Given the description of an element on the screen output the (x, y) to click on. 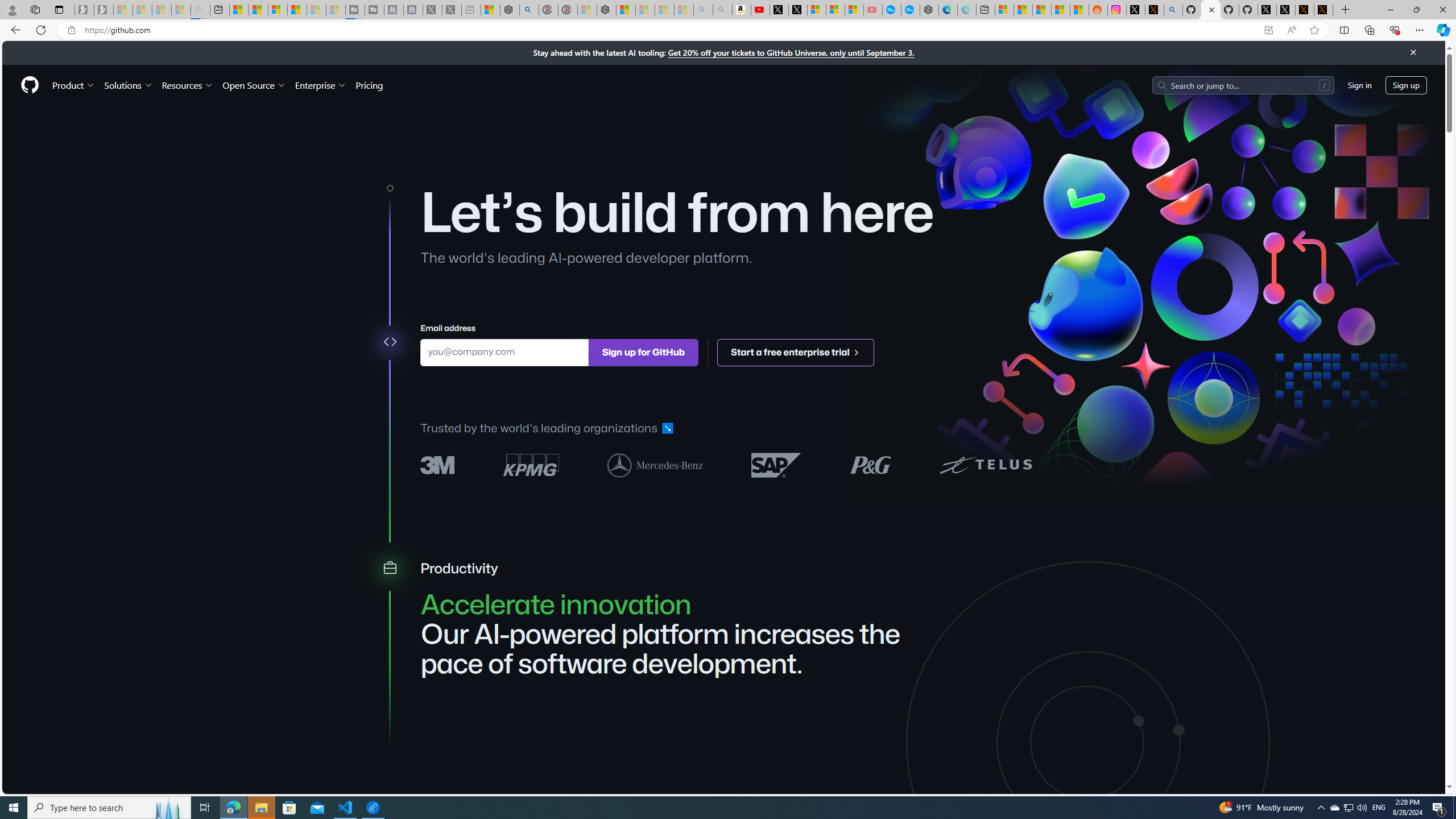
Homepage (29, 85)
Solutions (128, 84)
Resources (187, 84)
Shanghai, China Weather trends | Microsoft Weather (1079, 9)
Mercedes-Benz logo (655, 464)
GitHub (@github) / X (1285, 9)
Opinion: Op-Ed and Commentary - USA TODAY (891, 9)
